Given the description of an element on the screen output the (x, y) to click on. 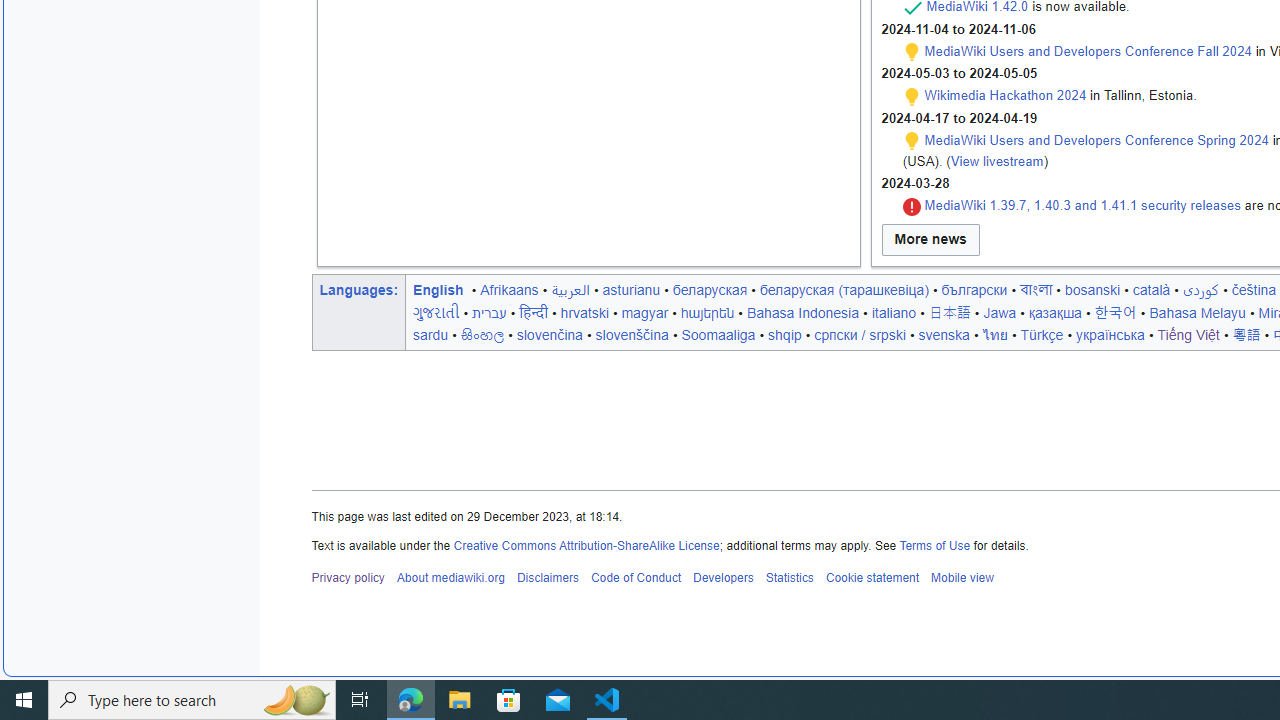
bosanski (1092, 289)
Mobile view (962, 578)
Disclaimers (546, 578)
svenska (943, 334)
Bahasa Melayu (1197, 312)
Statistics (789, 578)
Privacy policy (348, 578)
More news (930, 239)
Languages: (358, 289)
View livestream (996, 160)
MediaWiki Users and Developers Conference Fall 2024 (1087, 51)
